Given the description of an element on the screen output the (x, y) to click on. 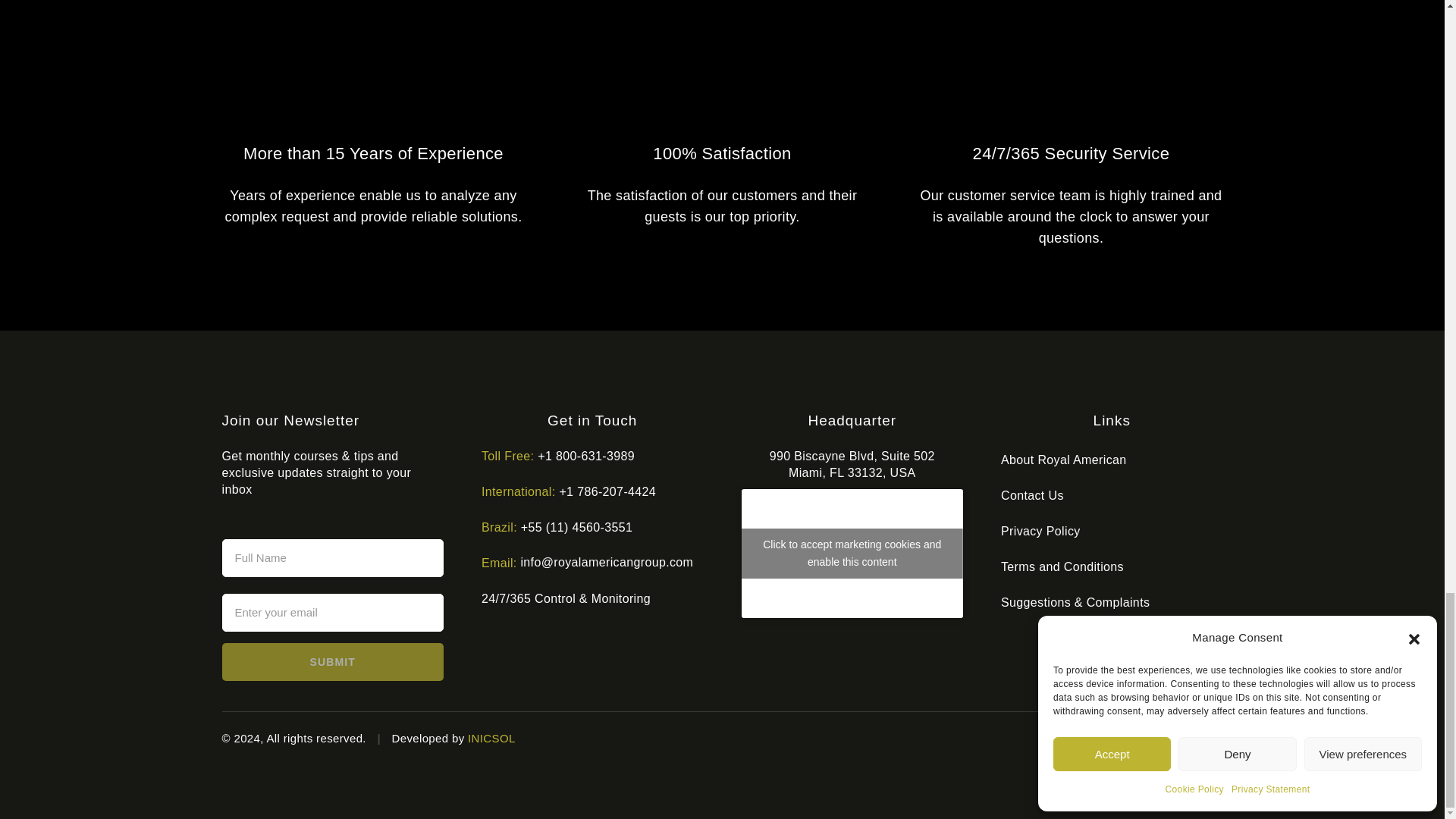
Submit (332, 661)
